Given the description of an element on the screen output the (x, y) to click on. 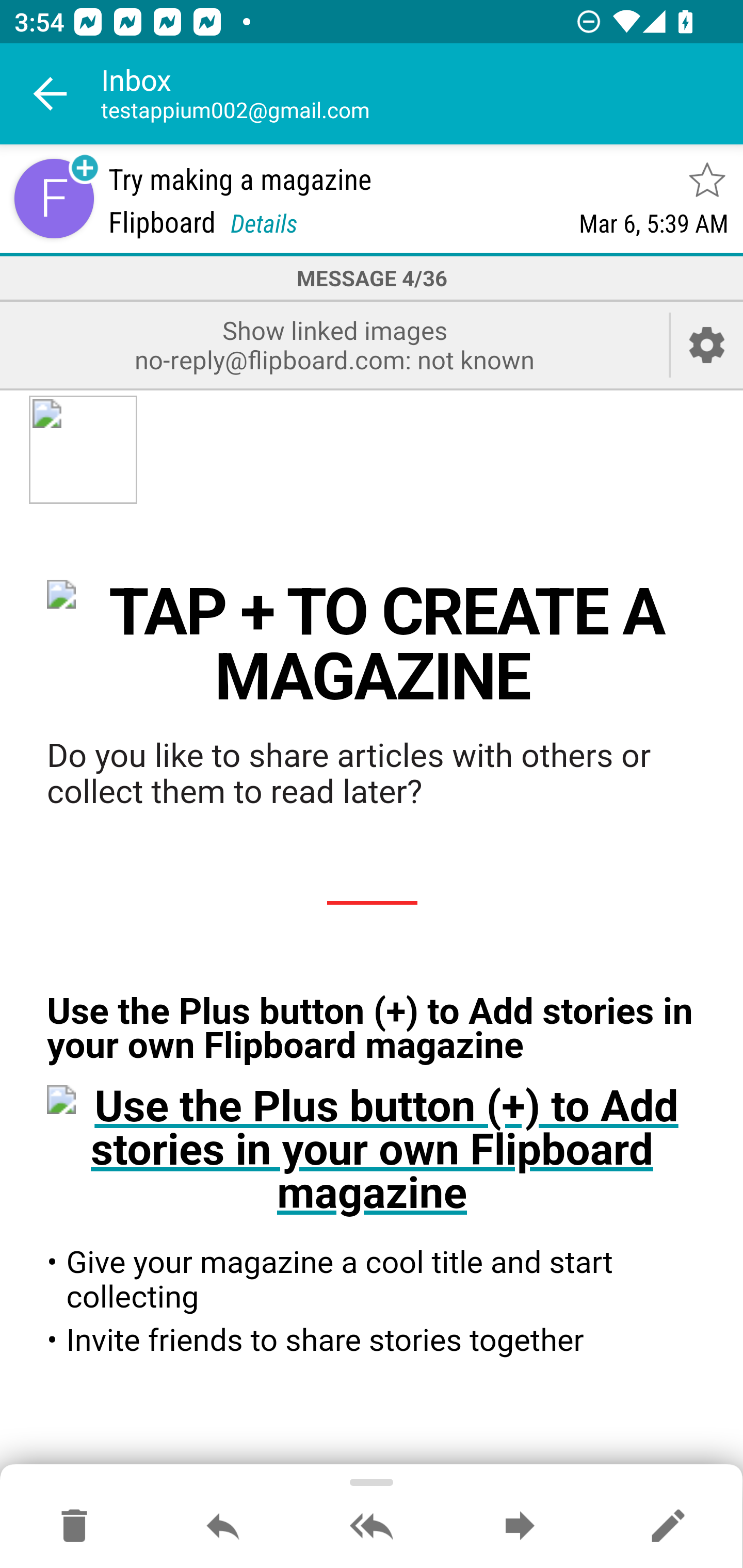
Navigate up (50, 93)
Inbox testappium002@gmail.com (422, 93)
Sender contact button (53, 198)
Account setup (706, 344)
Move to Deleted (74, 1527)
Reply (222, 1527)
Reply all (371, 1527)
Forward (519, 1527)
Reply as new (667, 1527)
